Given the description of an element on the screen output the (x, y) to click on. 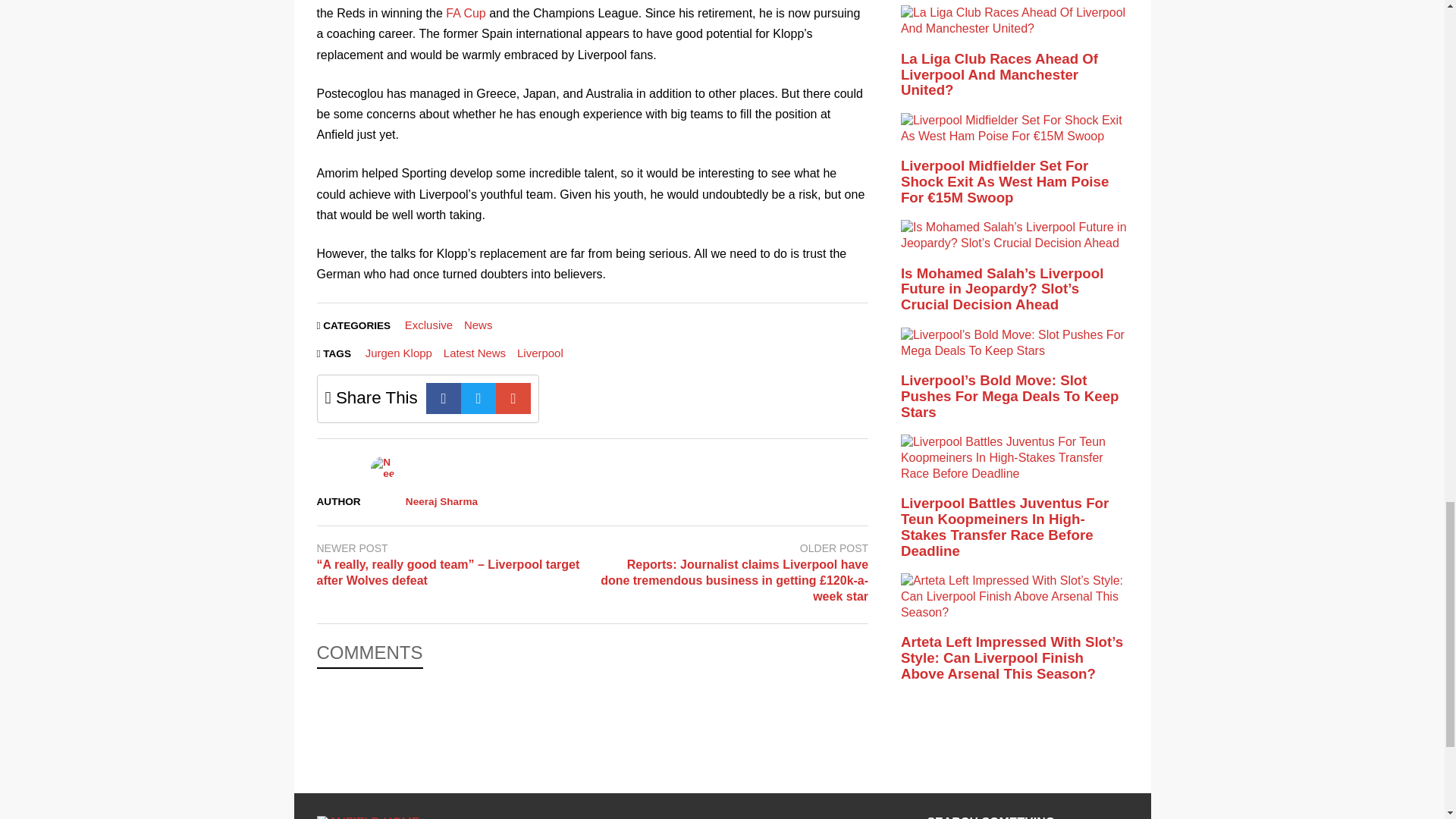
Facebook (443, 398)
Twitter (478, 398)
Google-plus (513, 398)
